Given the description of an element on the screen output the (x, y) to click on. 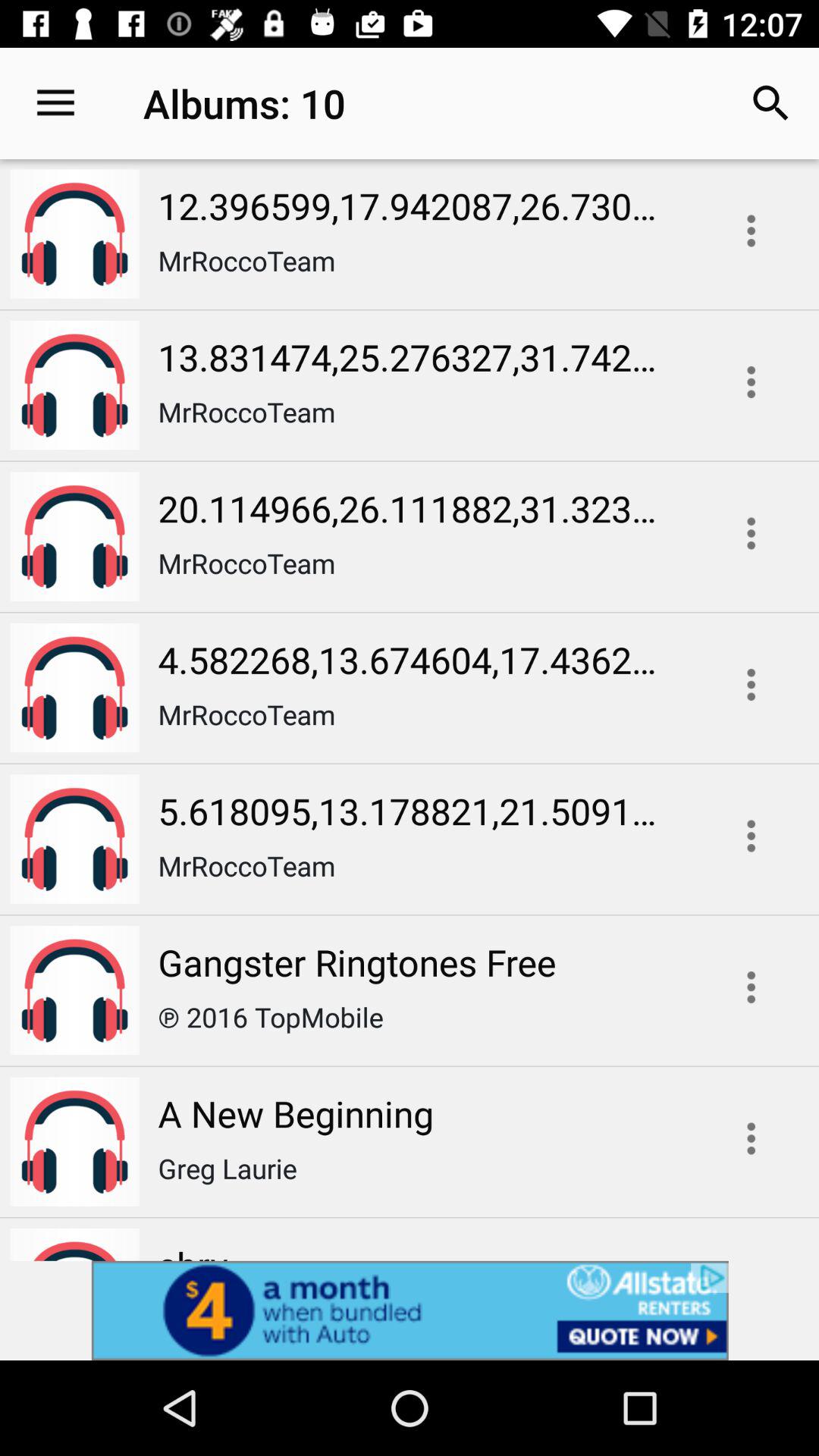
more option (750, 835)
